Given the description of an element on the screen output the (x, y) to click on. 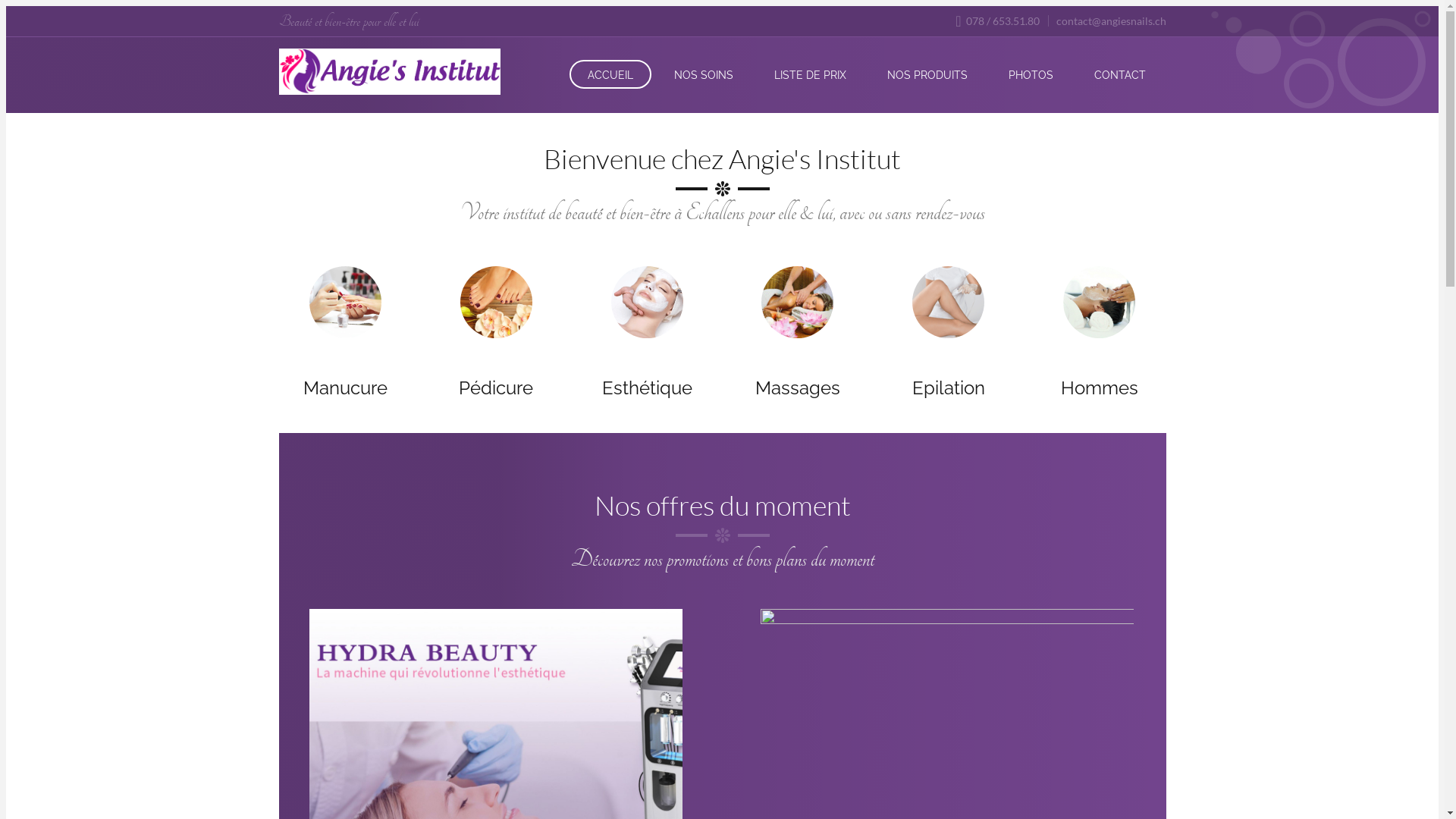
Epilation Element type: text (948, 387)
Manucure Element type: text (345, 387)
NOS SOINS Element type: text (702, 73)
Hommes Element type: text (1099, 387)
contact@angiesnails.ch Element type: text (1107, 20)
Massages Element type: text (797, 387)
Angie's Institut Element type: hover (390, 71)
PHOTOS Element type: text (1030, 73)
CONTACT Element type: text (1119, 73)
ACCUEIL Element type: text (609, 73)
Angie's Institut Element type: hover (390, 72)
NOS PRODUITS Element type: text (927, 73)
LISTE DE PRIX Element type: text (809, 73)
